Given the description of an element on the screen output the (x, y) to click on. 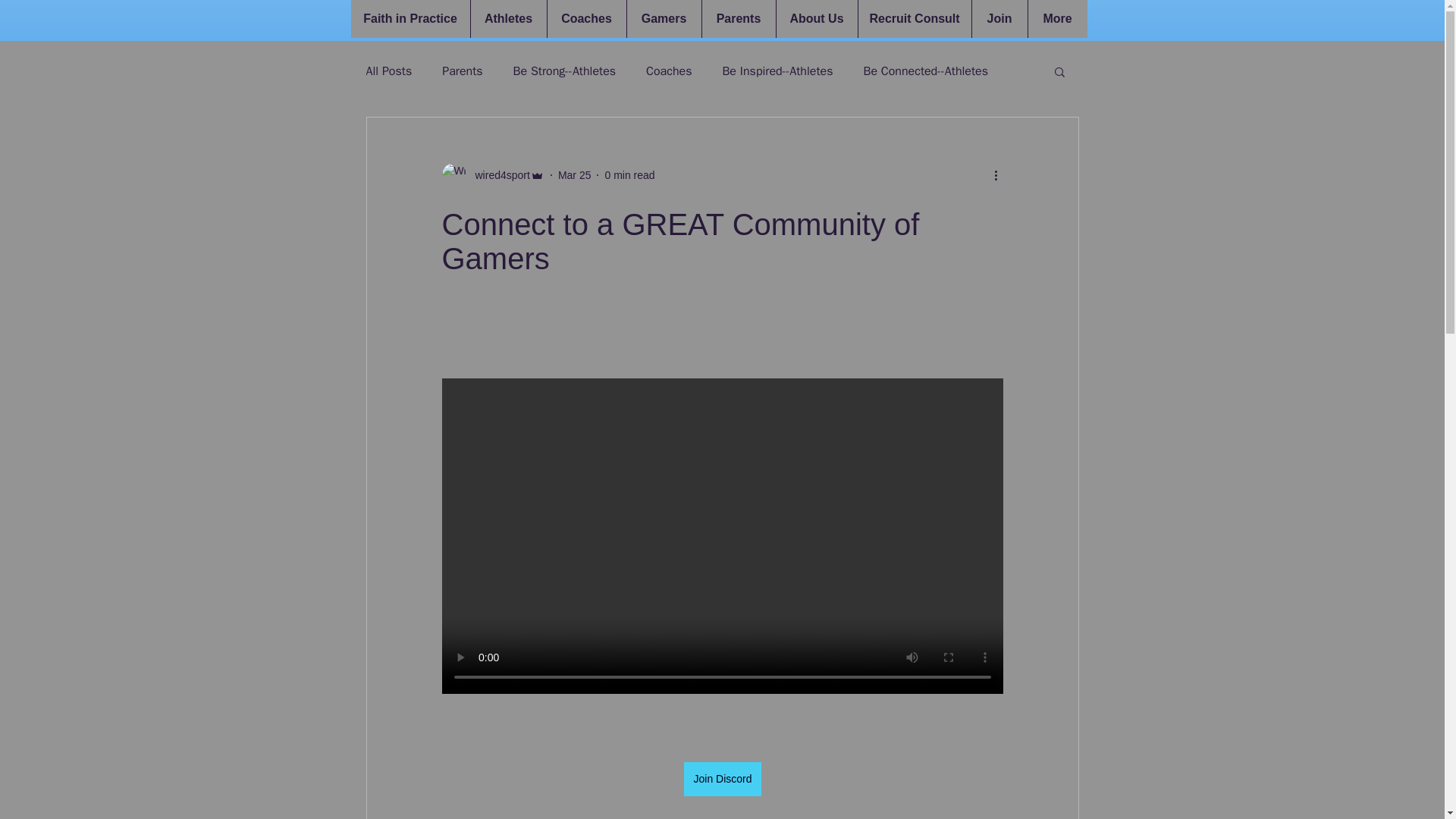
Faith in Practice (409, 18)
Join Discord (722, 779)
All Posts (388, 71)
Be Inspired--Athletes (777, 71)
Parents (737, 18)
Be Connected--Athletes (925, 71)
Coaches (668, 71)
Athletes (508, 18)
Gamers (663, 18)
wired4sport (492, 174)
Recruit Consult (914, 18)
Join (998, 18)
About Us (815, 18)
wired4sport (497, 174)
Coaches (586, 18)
